Given the description of an element on the screen output the (x, y) to click on. 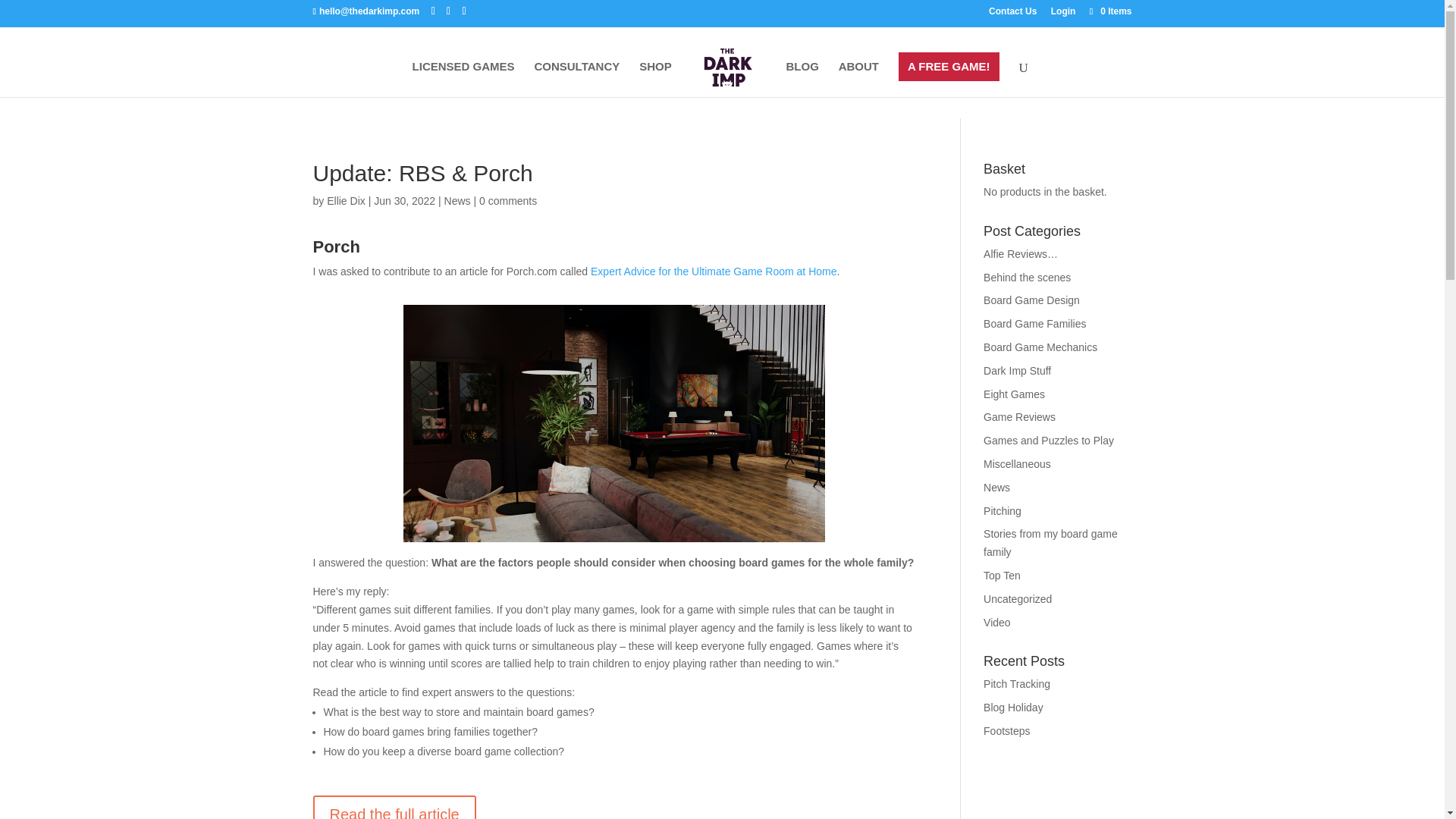
ABOUT (858, 79)
Eight Games (1014, 394)
News (457, 200)
Read the full article (394, 807)
Behind the scenes (1027, 277)
game room (614, 423)
0 comments (508, 200)
Dark Imp Stuff (1017, 370)
Login (1063, 14)
Expert Advice for the Ultimate Game Room at Home (713, 271)
Board Game Families (1035, 323)
Board Game Mechanics (1040, 346)
Contact Us (1012, 14)
LICENSED GAMES (463, 79)
CONSULTANCY (577, 79)
